Given the description of an element on the screen output the (x, y) to click on. 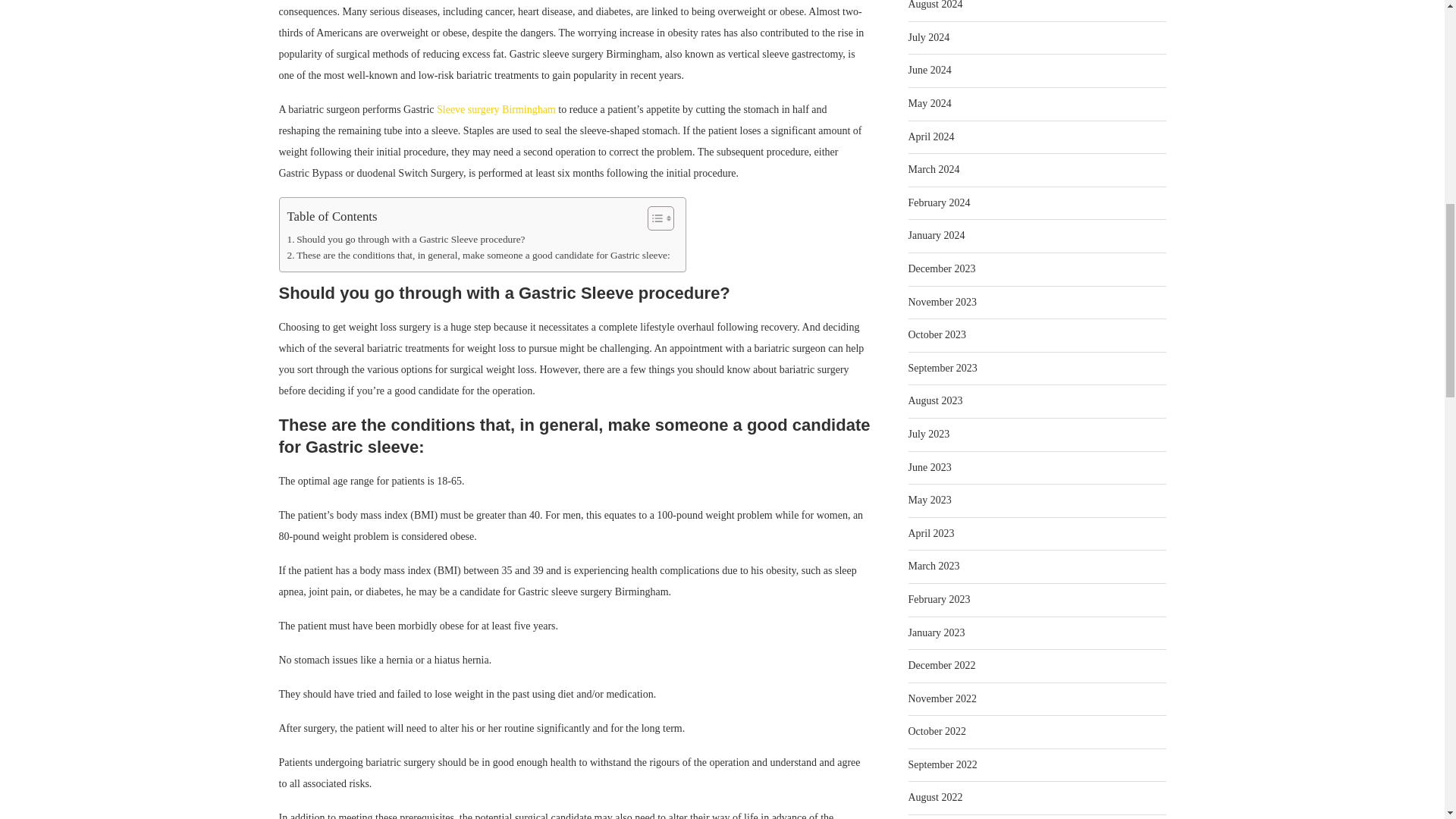
Should you go through with a Gastric Sleeve procedure? (405, 238)
Sleeve surgery Birmingham (496, 109)
Should you go through with a Gastric Sleeve procedure? (405, 238)
